Given the description of an element on the screen output the (x, y) to click on. 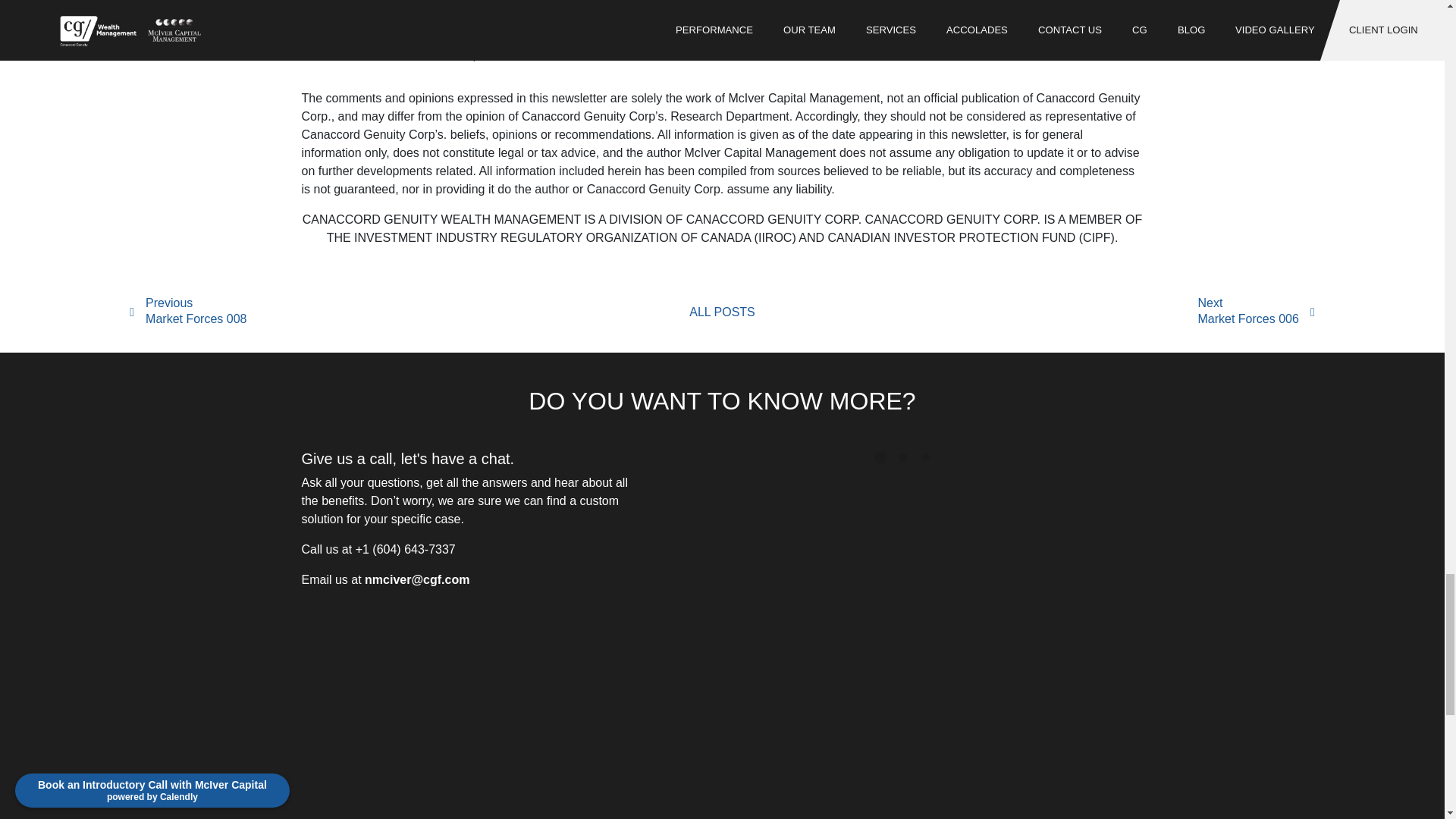
ALL POSTS (721, 312)
YouTube (545, 54)
Twitter  (1255, 311)
